Given the description of an element on the screen output the (x, y) to click on. 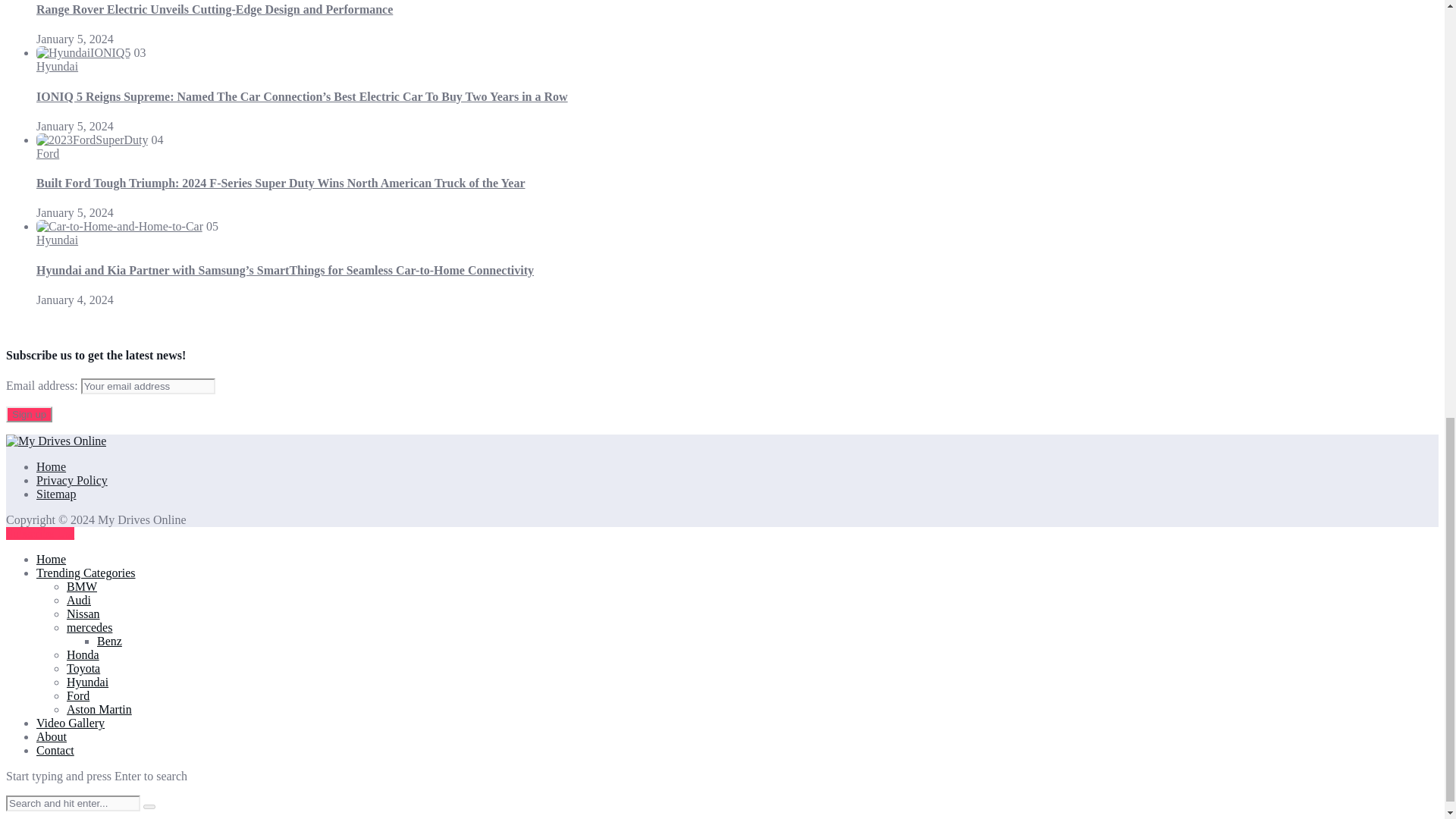
Sign up (28, 414)
